Given the description of an element on the screen output the (x, y) to click on. 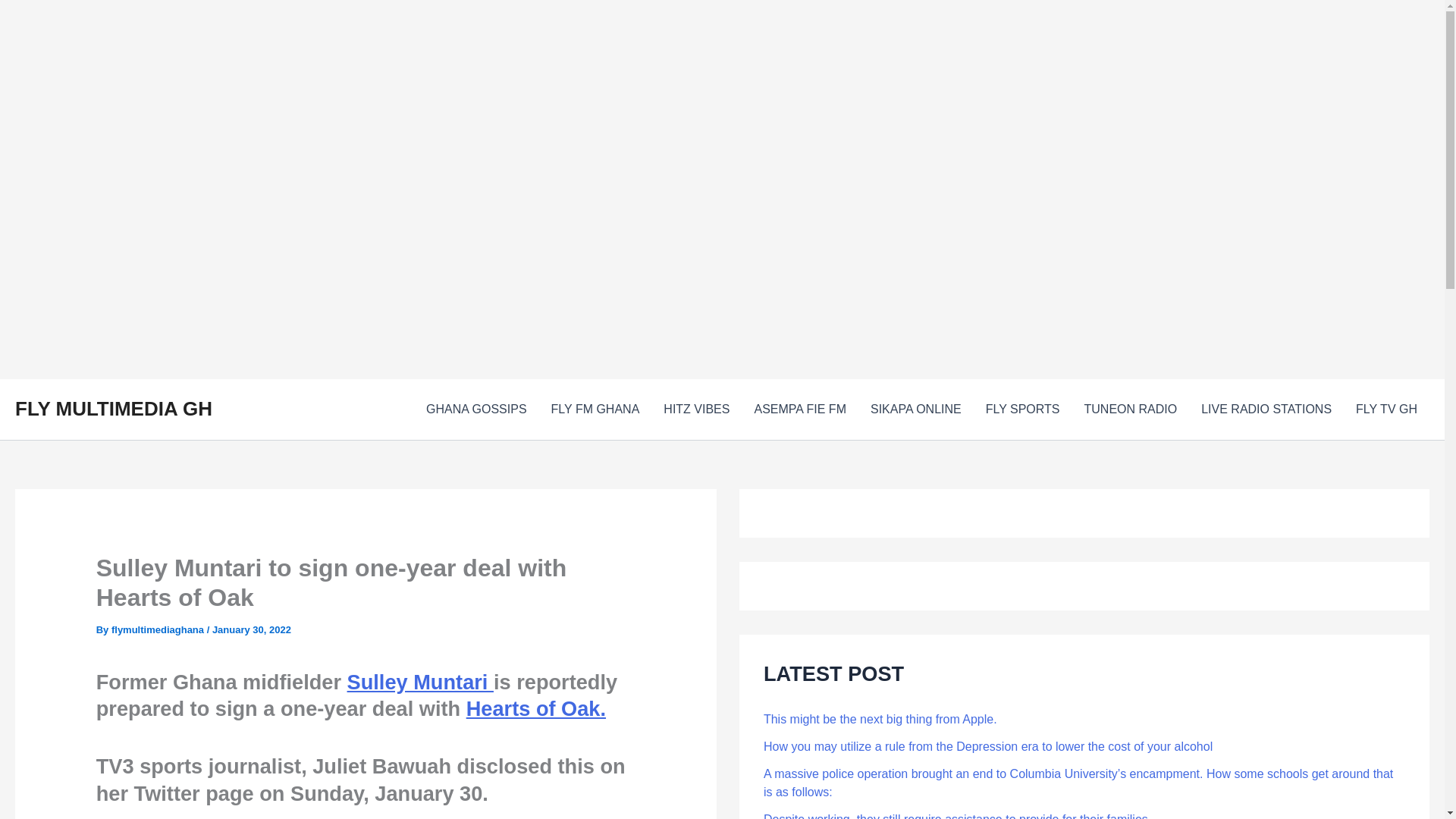
GHANA GOSSIPS (475, 409)
FLY SPORTS (1022, 409)
View all posts by flymultimediaghana (159, 629)
Hearts of Oak. (535, 708)
flymultimediaghana (159, 629)
ASEMPA FIE FM (800, 409)
FLY MULTIMEDIA GH (113, 408)
TUNEON RADIO (1130, 409)
HITZ VIBES (695, 409)
LIVE RADIO STATIONS (1266, 409)
This might be the next big thing from Apple. (879, 718)
SIKAPA ONLINE (916, 409)
FLY FM GHANA (595, 409)
